Given the description of an element on the screen output the (x, y) to click on. 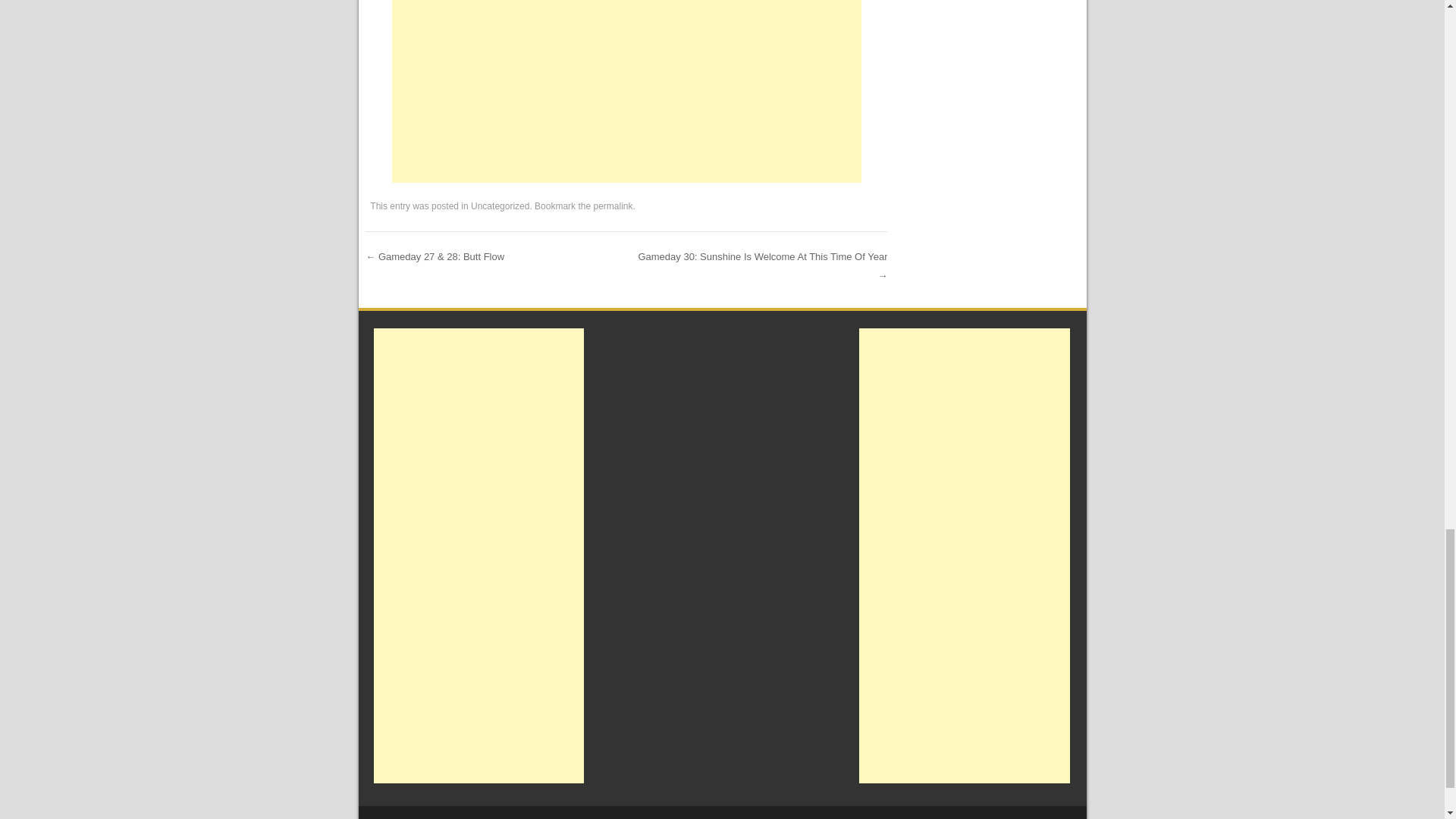
Uncategorized (499, 205)
permalink (611, 205)
